Given the description of an element on the screen output the (x, y) to click on. 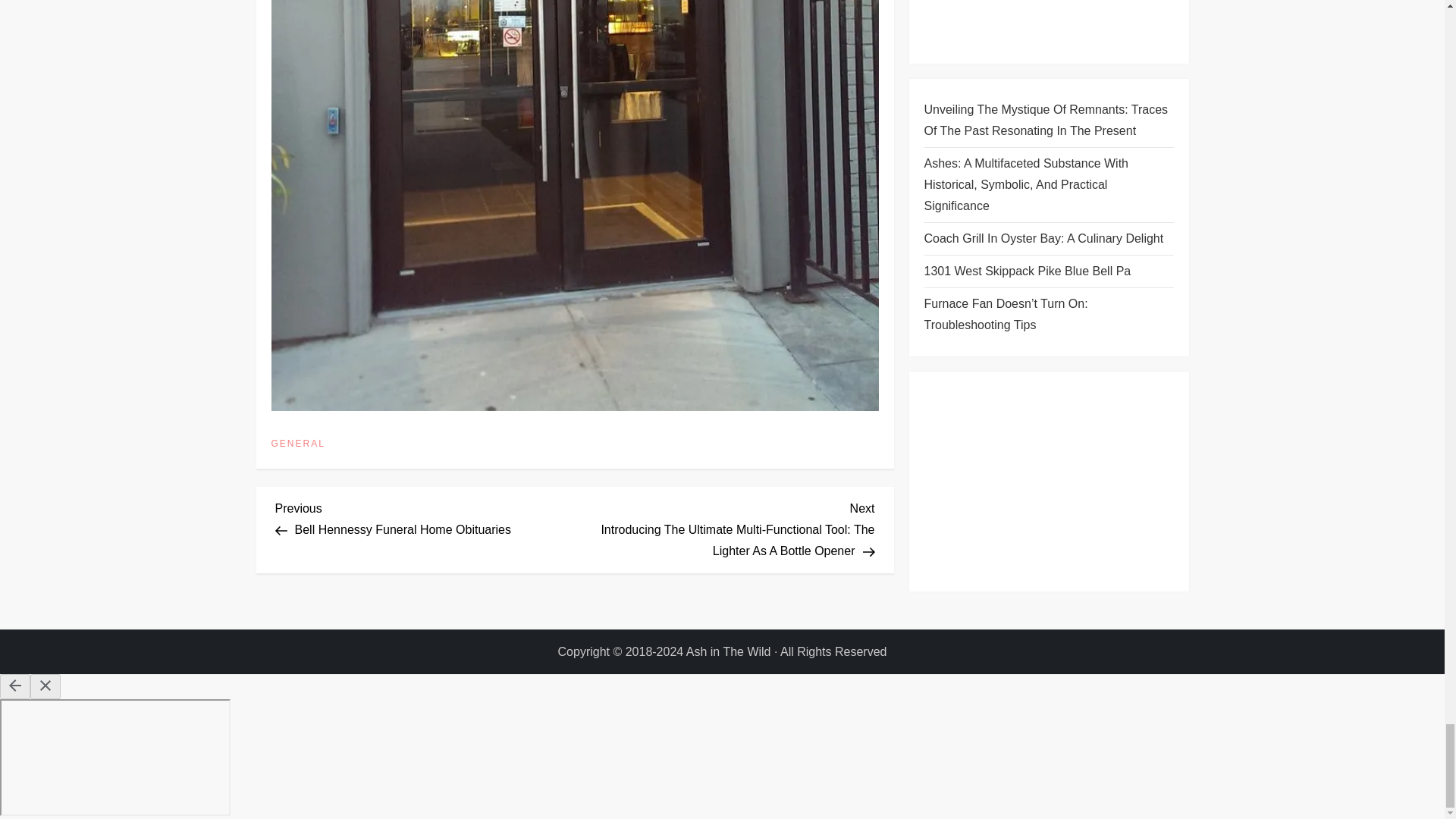
GENERAL (425, 516)
